Given the description of an element on the screen output the (x, y) to click on. 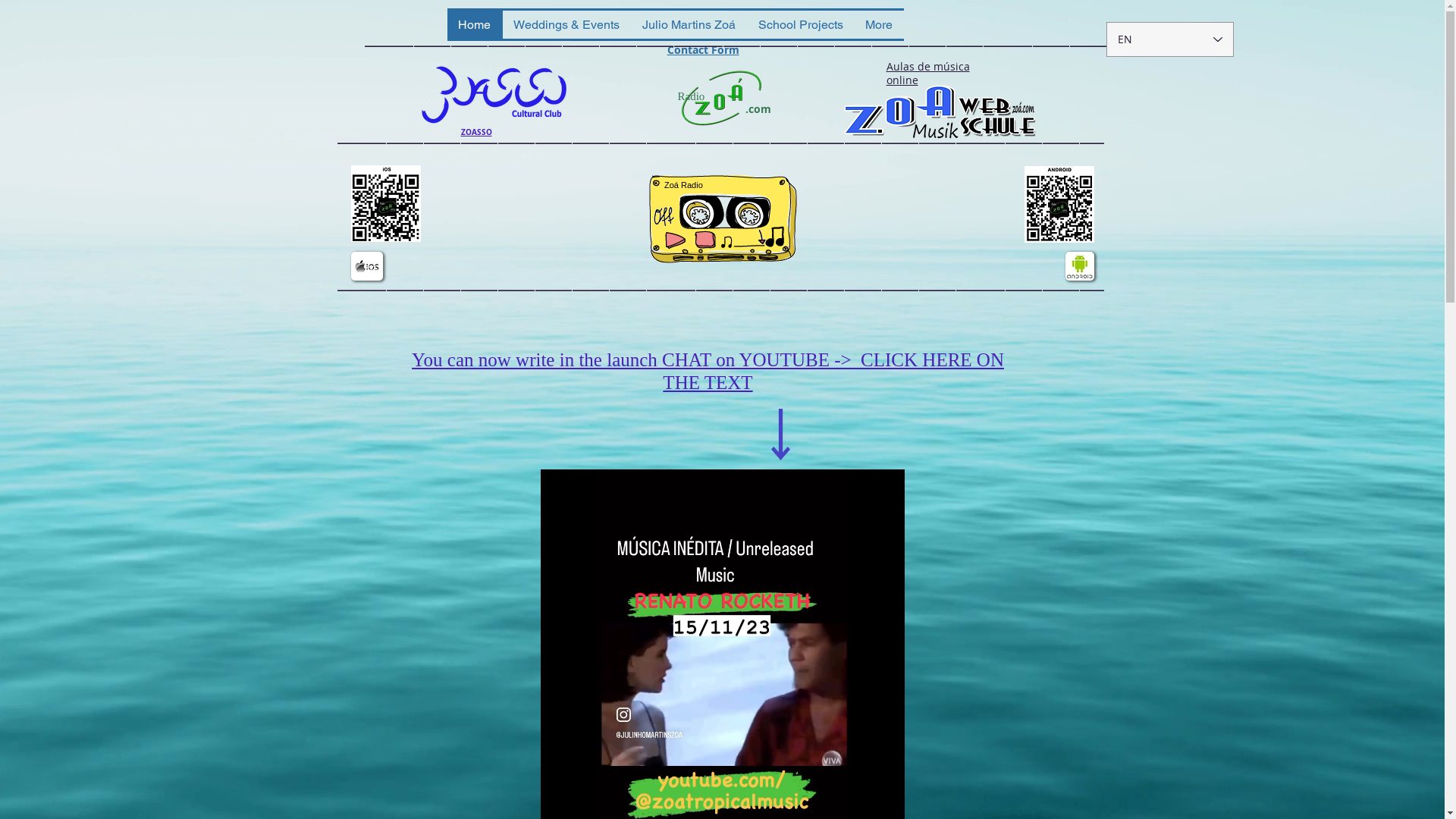
Contact Form Element type: text (703, 49)
School Projects Element type: text (800, 24)
Embedded Content Element type: hover (721, 223)
Weddings & Events Element type: text (566, 24)
Home Element type: text (474, 24)
ZOASSO Element type: text (476, 131)
